Given the description of an element on the screen output the (x, y) to click on. 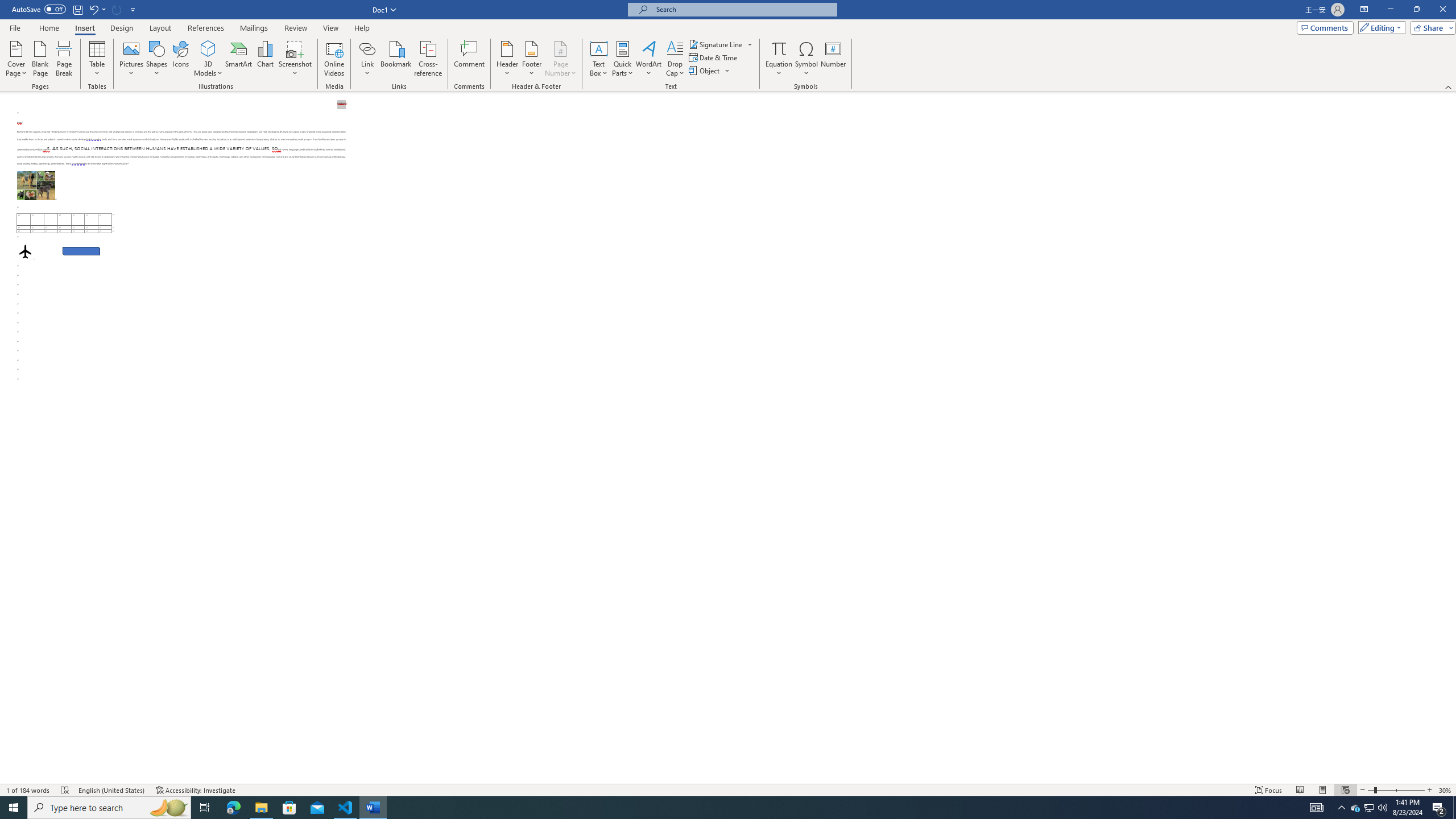
Editing (1379, 27)
Quick Parts (622, 58)
Zoom (1396, 790)
Undo Apply Quick Style Set (92, 9)
Bookmark... (396, 58)
Comments (1325, 27)
Accessibility Checker Accessibility: Investigate (195, 790)
Minimize (1390, 9)
Review (295, 28)
Signature Line (721, 44)
Equation (778, 58)
Read Mode (1299, 790)
Share (1430, 27)
